Given the description of an element on the screen output the (x, y) to click on. 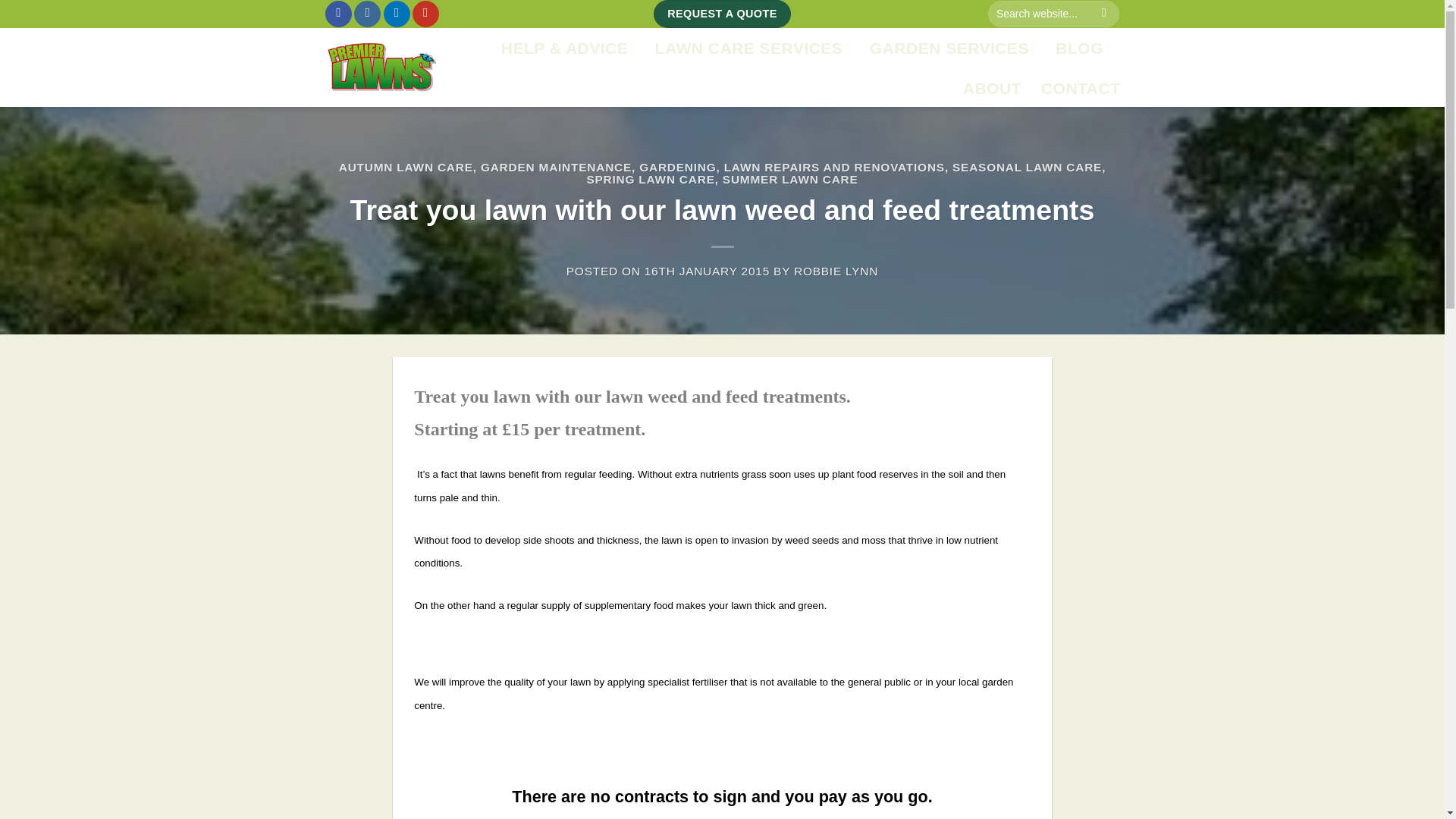
REQUEST A QUOTE (721, 13)
Follow on LinkedIn (397, 13)
BLOG (1082, 47)
Follow on Instagram (366, 13)
LAWN CARE SERVICES (752, 47)
GARDEN SERVICES (952, 47)
Follow on YouTube (425, 13)
Follow on Facebook (338, 13)
